Given the description of an element on the screen output the (x, y) to click on. 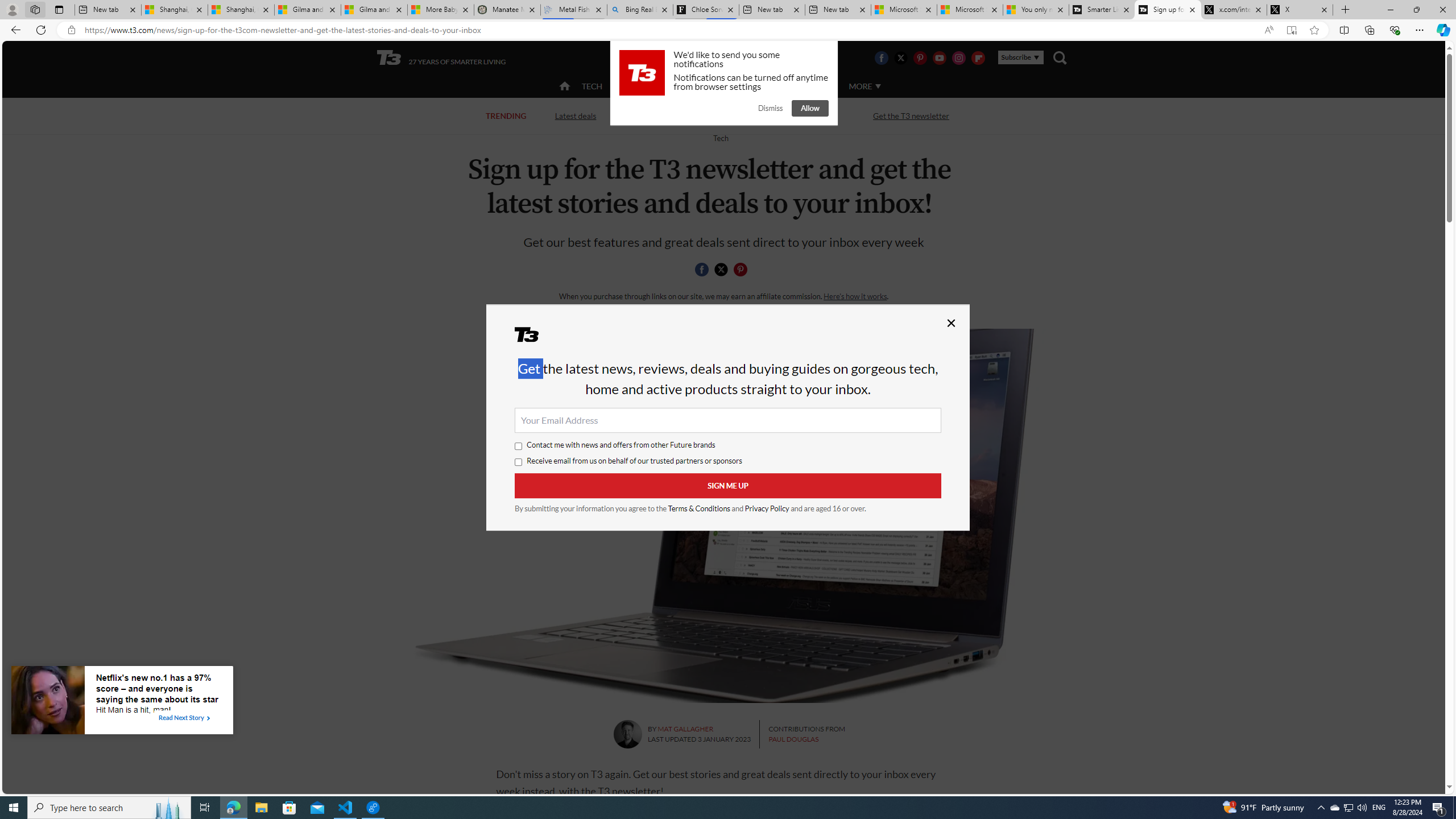
Return to Tech (720, 137)
UK Edition (736, 57)
Bing Real Estate - Home sales and rental listings (640, 9)
Visit us on Pintrest (919, 57)
Get the T3 newsletter (911, 115)
PAUL DOUGLAS (793, 738)
Visit us on Facebook (880, 57)
X (1300, 9)
TECH (591, 86)
LUXURY (765, 85)
